Given the description of an element on the screen output the (x, y) to click on. 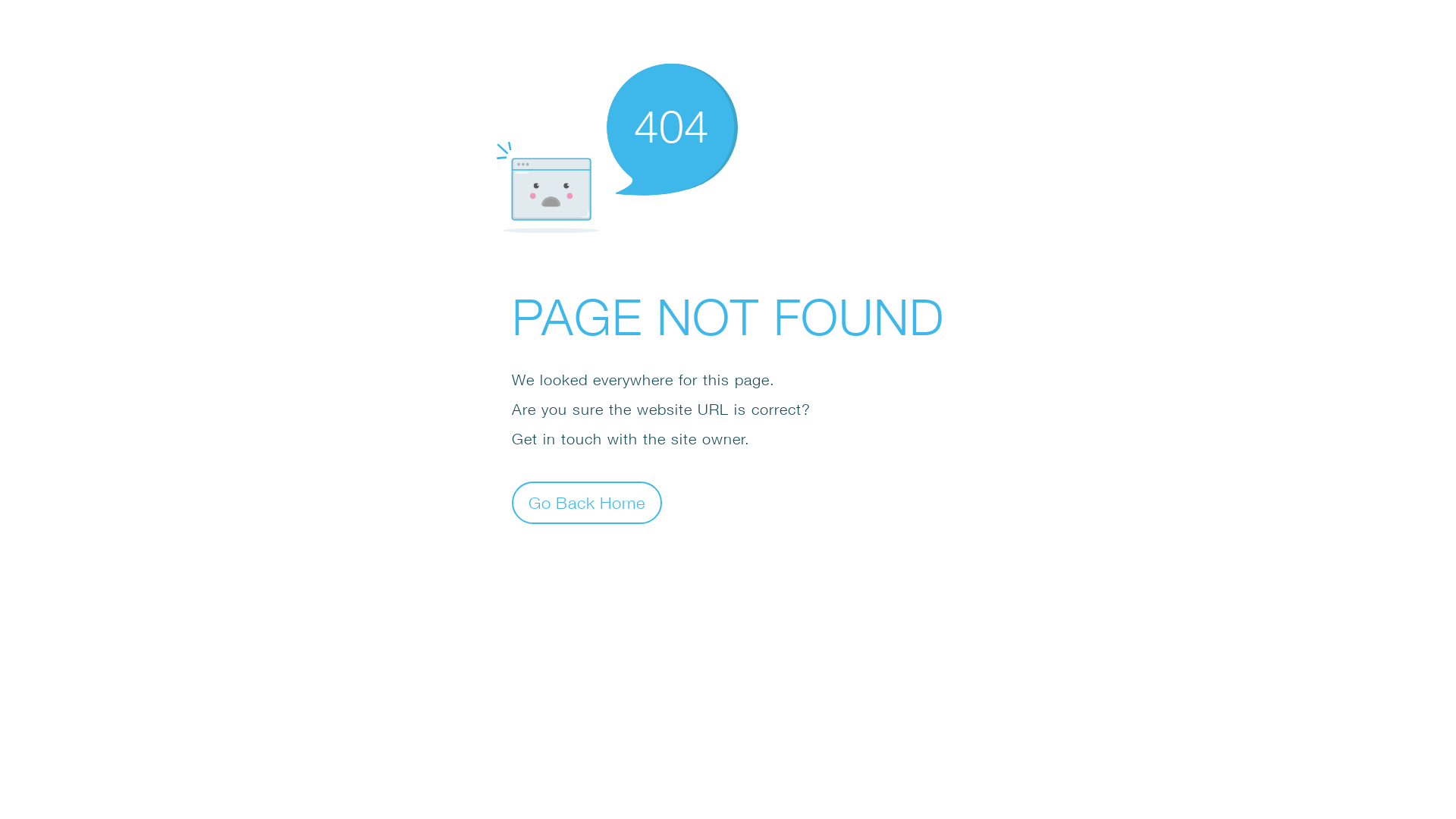
Go Back Home Element type: text (586, 502)
